Given the description of an element on the screen output the (x, y) to click on. 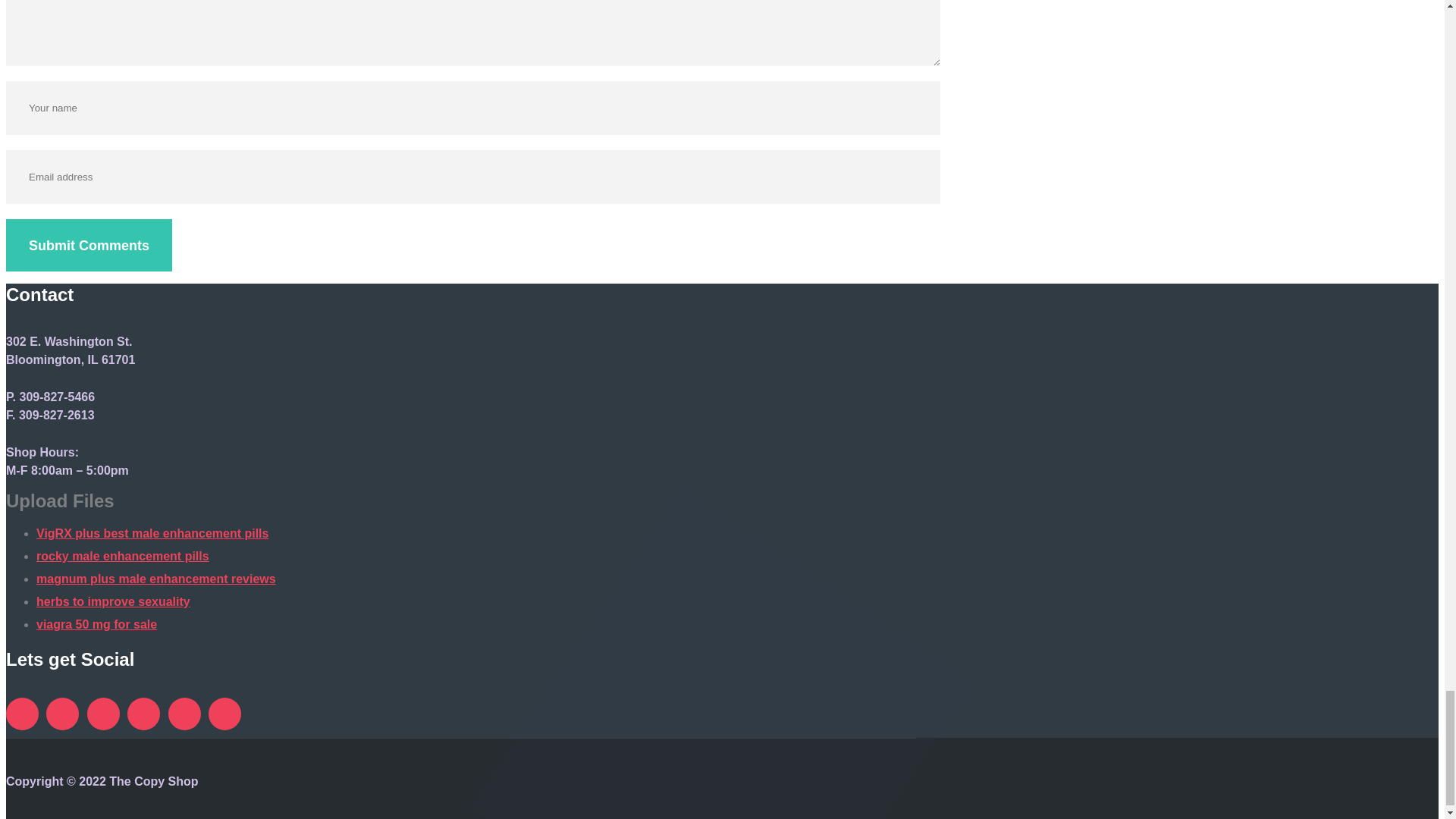
VigRX plus best male enhancement pills (151, 533)
herbs to improve sexuality (113, 601)
rocky male enhancement pills (122, 555)
magnum plus male enhancement reviews (156, 578)
Submit Comments (88, 245)
